Given the description of an element on the screen output the (x, y) to click on. 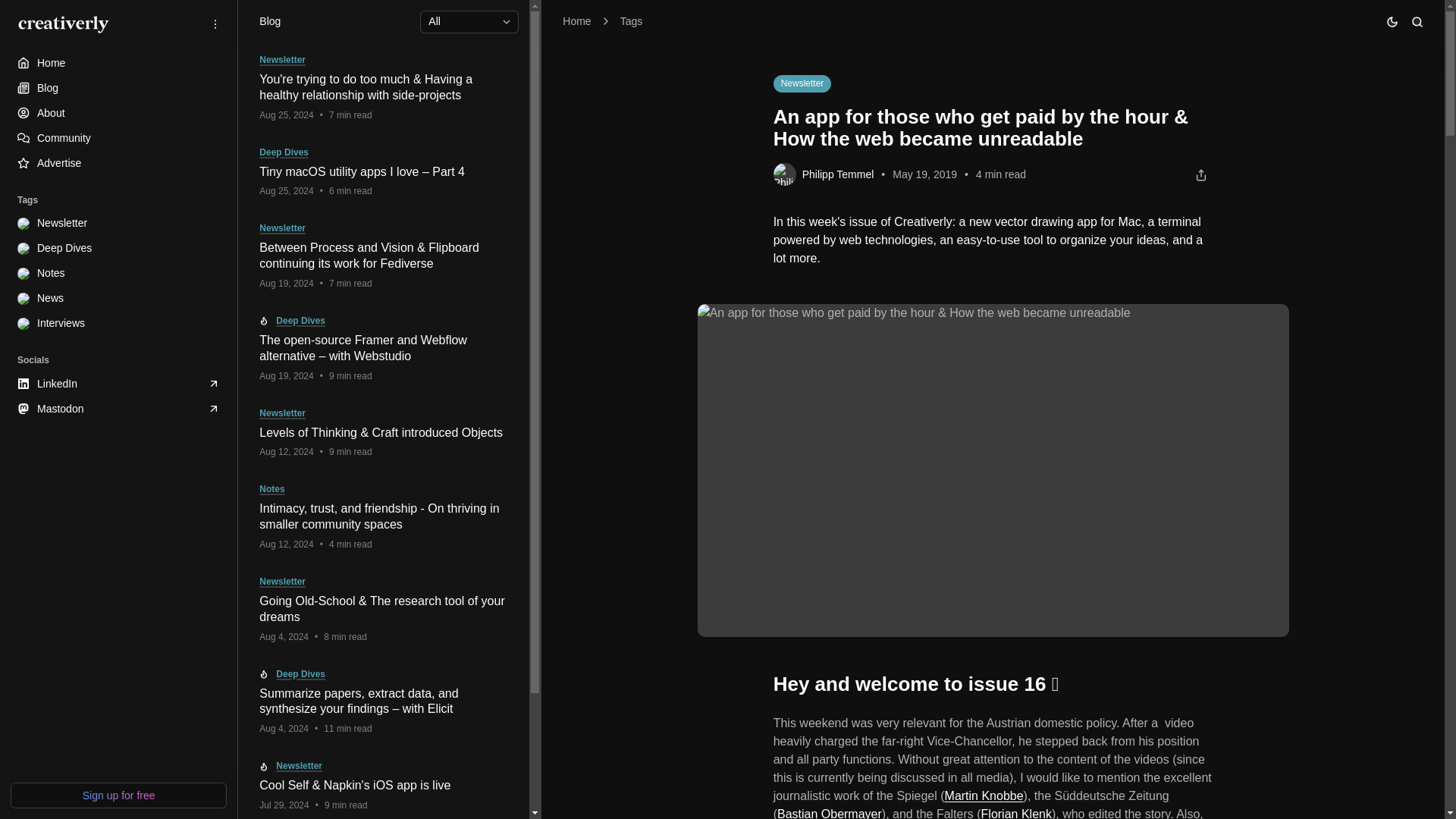
Skip to Navigation (16, 12)
Home (118, 63)
Sign up for free (118, 795)
system (1350, 106)
Blog (118, 87)
Tags (630, 21)
Community (118, 137)
LinkedIn (118, 383)
Advertise (118, 163)
Deep Dives (118, 248)
